Given the description of an element on the screen output the (x, y) to click on. 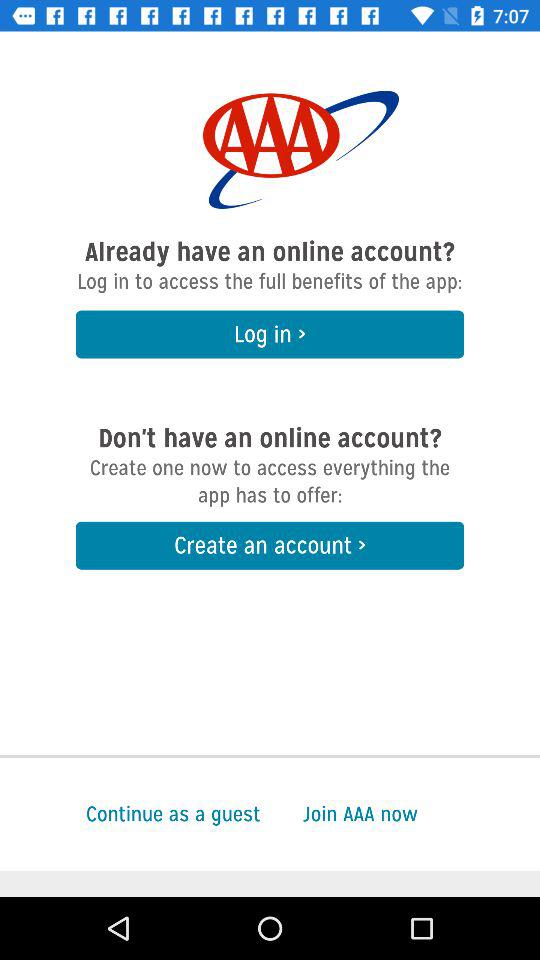
turn off join aaa now (421, 814)
